Given the description of an element on the screen output the (x, y) to click on. 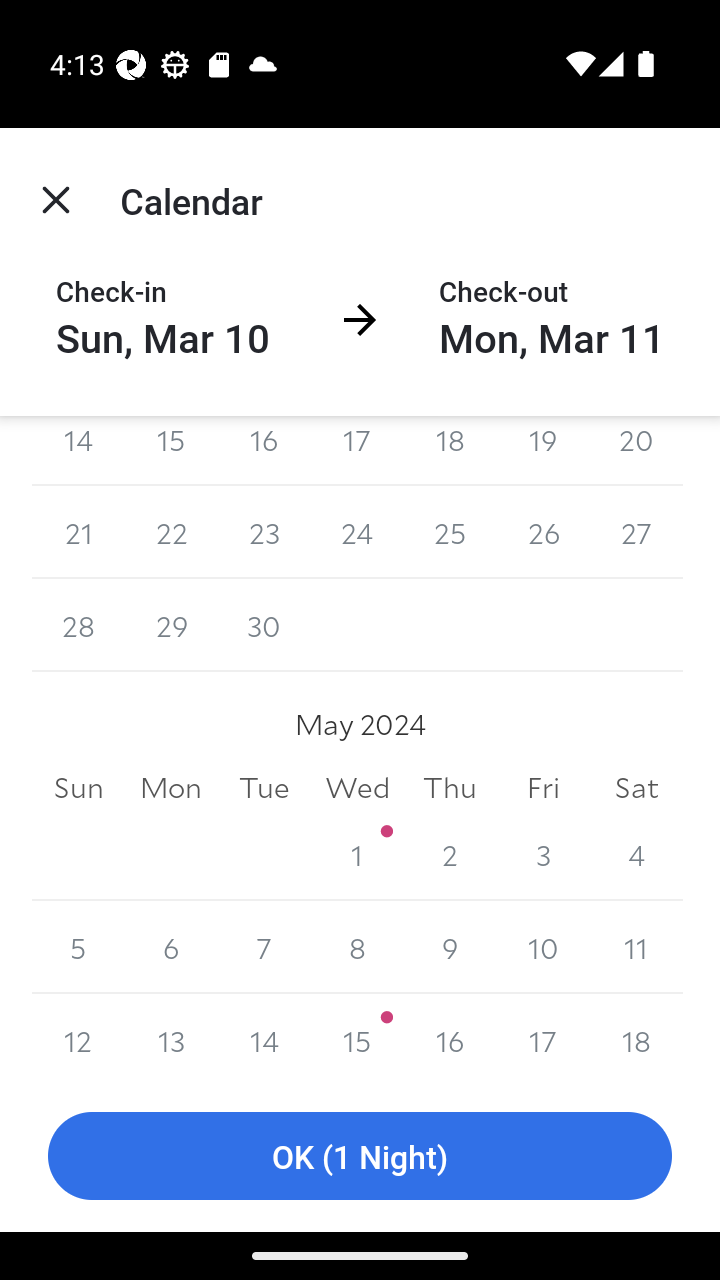
14 14 April 2024 (78, 451)
15 15 April 2024 (171, 451)
16 16 April 2024 (264, 451)
17 17 April 2024 (357, 451)
18 18 April 2024 (449, 451)
19 19 April 2024 (542, 451)
20 20 April 2024 (636, 451)
21 21 April 2024 (78, 532)
22 22 April 2024 (171, 532)
23 23 April 2024 (264, 532)
24 24 April 2024 (357, 532)
25 25 April 2024 (449, 532)
26 26 April 2024 (542, 532)
27 27 April 2024 (636, 532)
28 28 April 2024 (78, 625)
29 29 April 2024 (171, 625)
30 30 April 2024 (264, 625)
Sun (78, 786)
Mon (171, 786)
Tue (264, 786)
Wed (357, 786)
Thu (449, 786)
Fri (542, 786)
Sat (636, 786)
1 1 May 2024 (357, 854)
2 2 May 2024 (449, 854)
3 3 May 2024 (542, 854)
4 4 May 2024 (636, 854)
5 5 May 2024 (78, 947)
6 6 May 2024 (171, 947)
7 7 May 2024 (264, 947)
8 8 May 2024 (357, 947)
9 9 May 2024 (449, 947)
10 10 May 2024 (542, 947)
11 11 May 2024 (636, 947)
12 12 May 2024 (78, 1037)
13 13 May 2024 (171, 1037)
14 14 May 2024 (264, 1037)
15 15 May 2024 (357, 1037)
16 16 May 2024 (449, 1037)
17 17 May 2024 (542, 1037)
18 18 May 2024 (636, 1037)
OK (1 Night) (359, 1156)
